Given the description of an element on the screen output the (x, y) to click on. 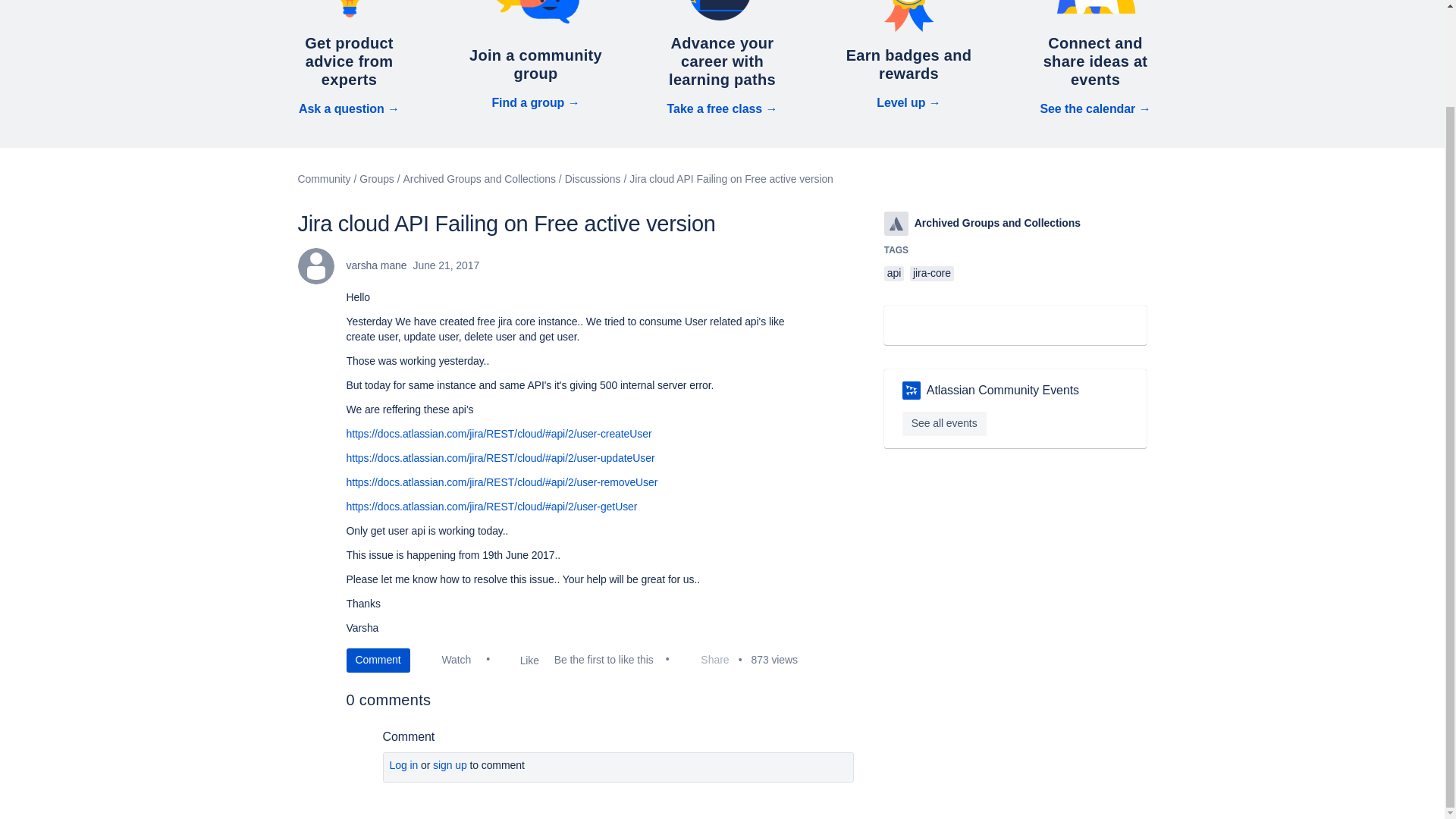
Atlassian logo (895, 223)
AUG Leaders (911, 390)
varsha mane (315, 266)
